Given the description of an element on the screen output the (x, y) to click on. 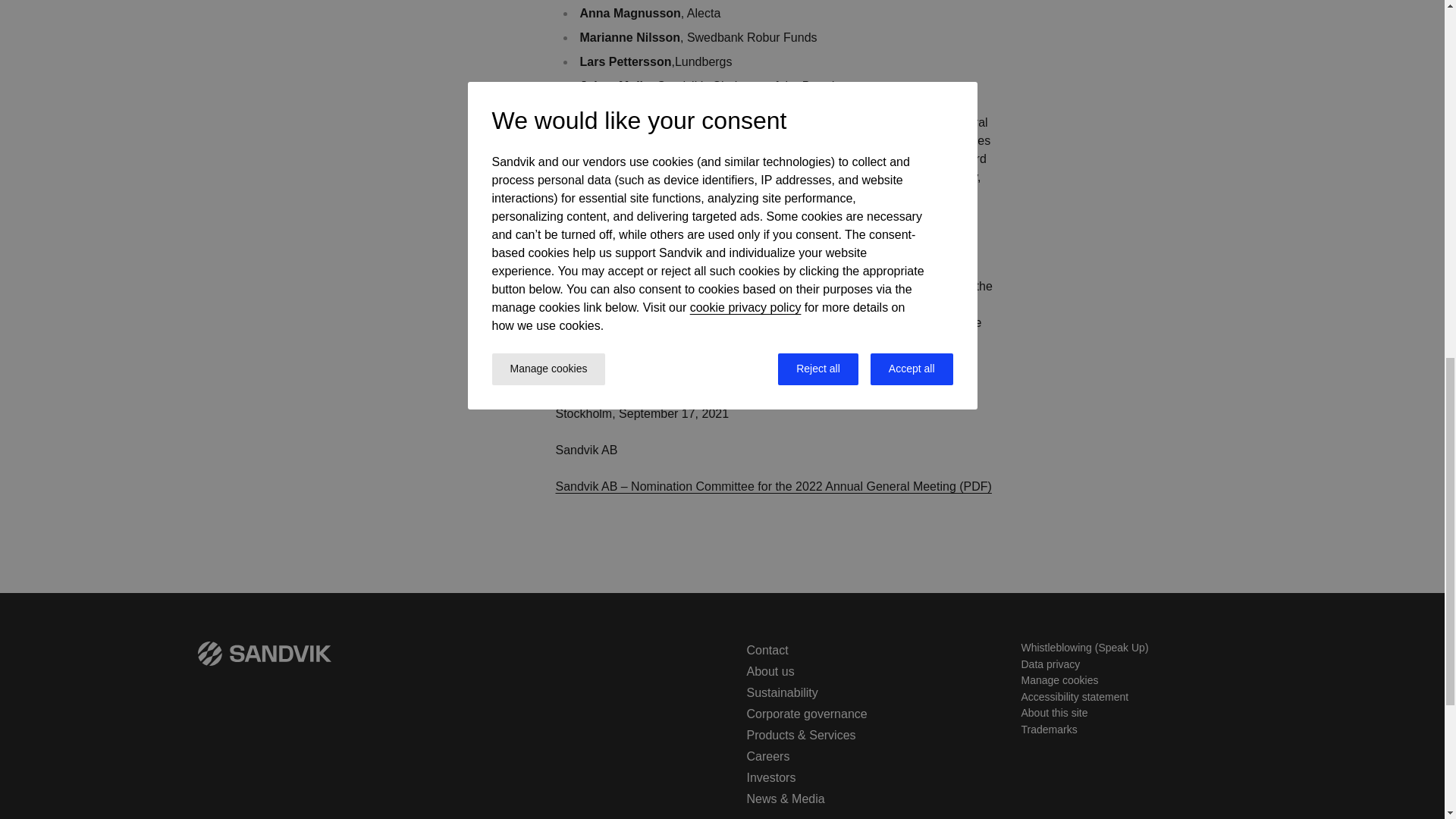
Careers (767, 756)
Contact (766, 649)
About this site (1053, 712)
Corporate governance (805, 713)
Accessibility statement (1074, 696)
Sustainability (780, 692)
About us (769, 671)
Data privacy (1050, 664)
Investors (769, 777)
Manage cookies (1058, 680)
Trademarks (1048, 729)
